Given the description of an element on the screen output the (x, y) to click on. 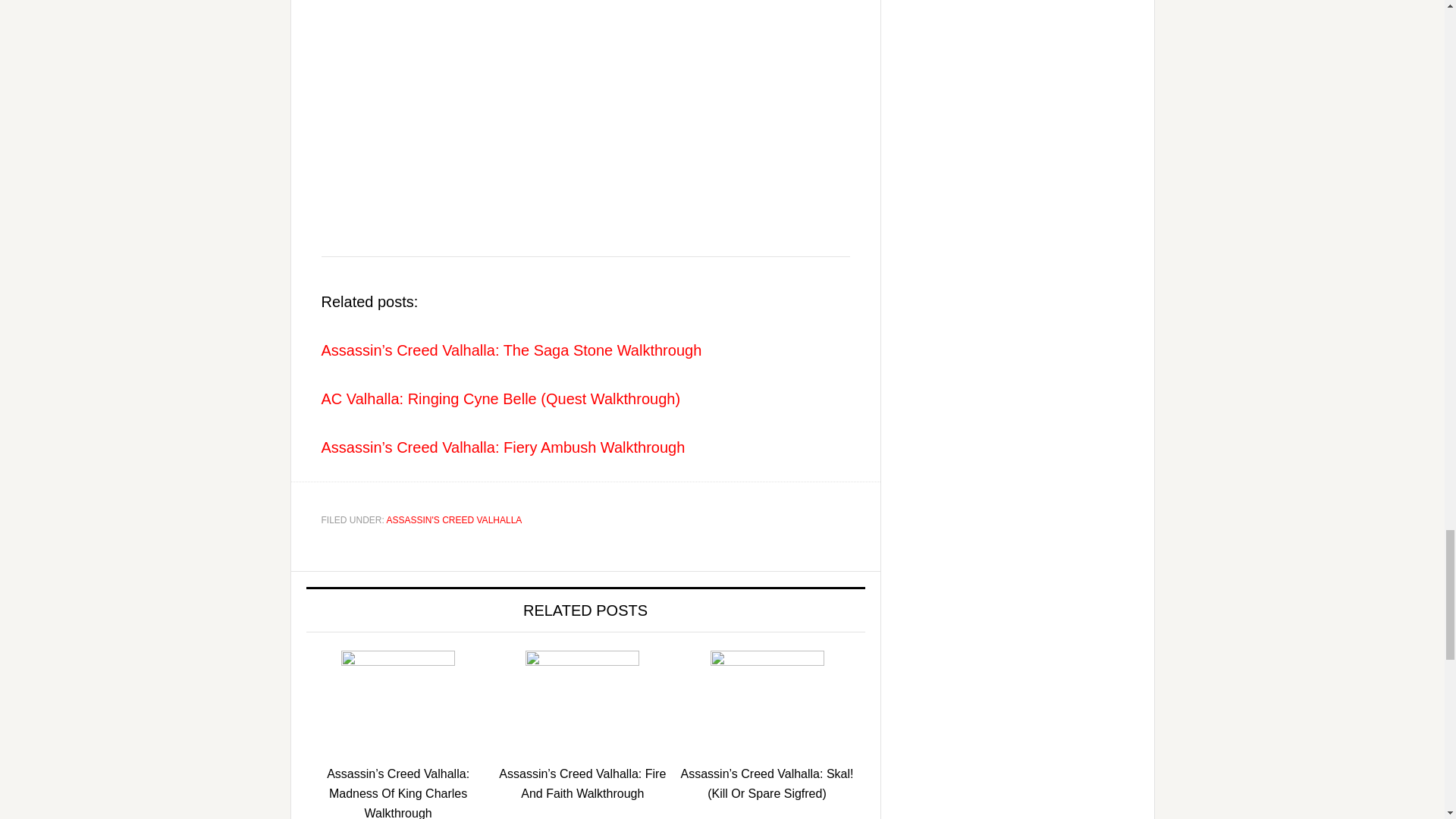
ASSASSIN'S CREED VALHALLA (454, 520)
